Given the description of an element on the screen output the (x, y) to click on. 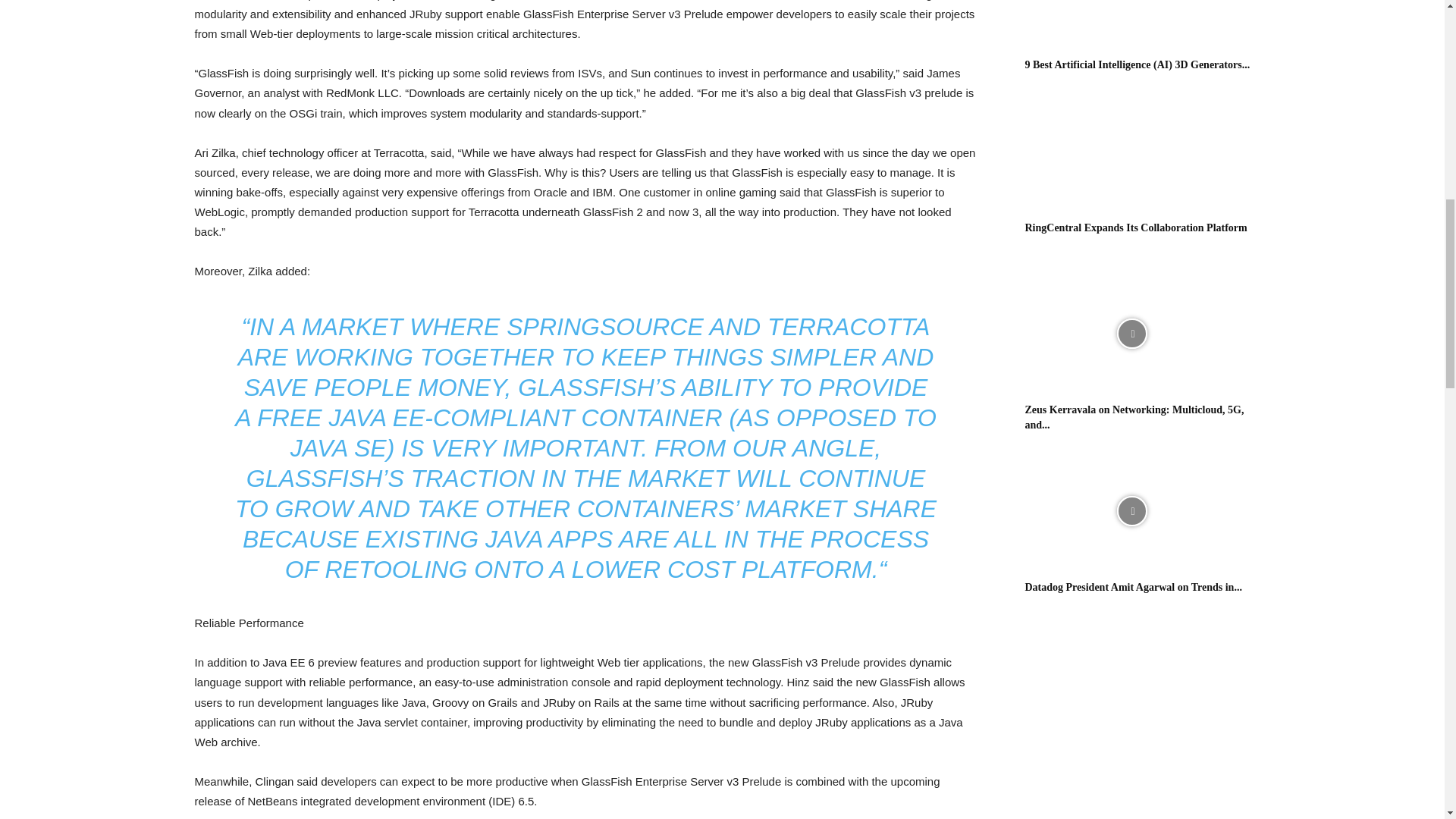
RingCentral Expands Its Collaboration Platform (1136, 227)
Zeus Kerravala on Networking: Multicloud, 5G, and Automation (1134, 417)
Zeus Kerravala on Networking: Multicloud, 5G, and Automation (1131, 333)
RingCentral Expands Its Collaboration Platform (1131, 151)
